Given the description of an element on the screen output the (x, y) to click on. 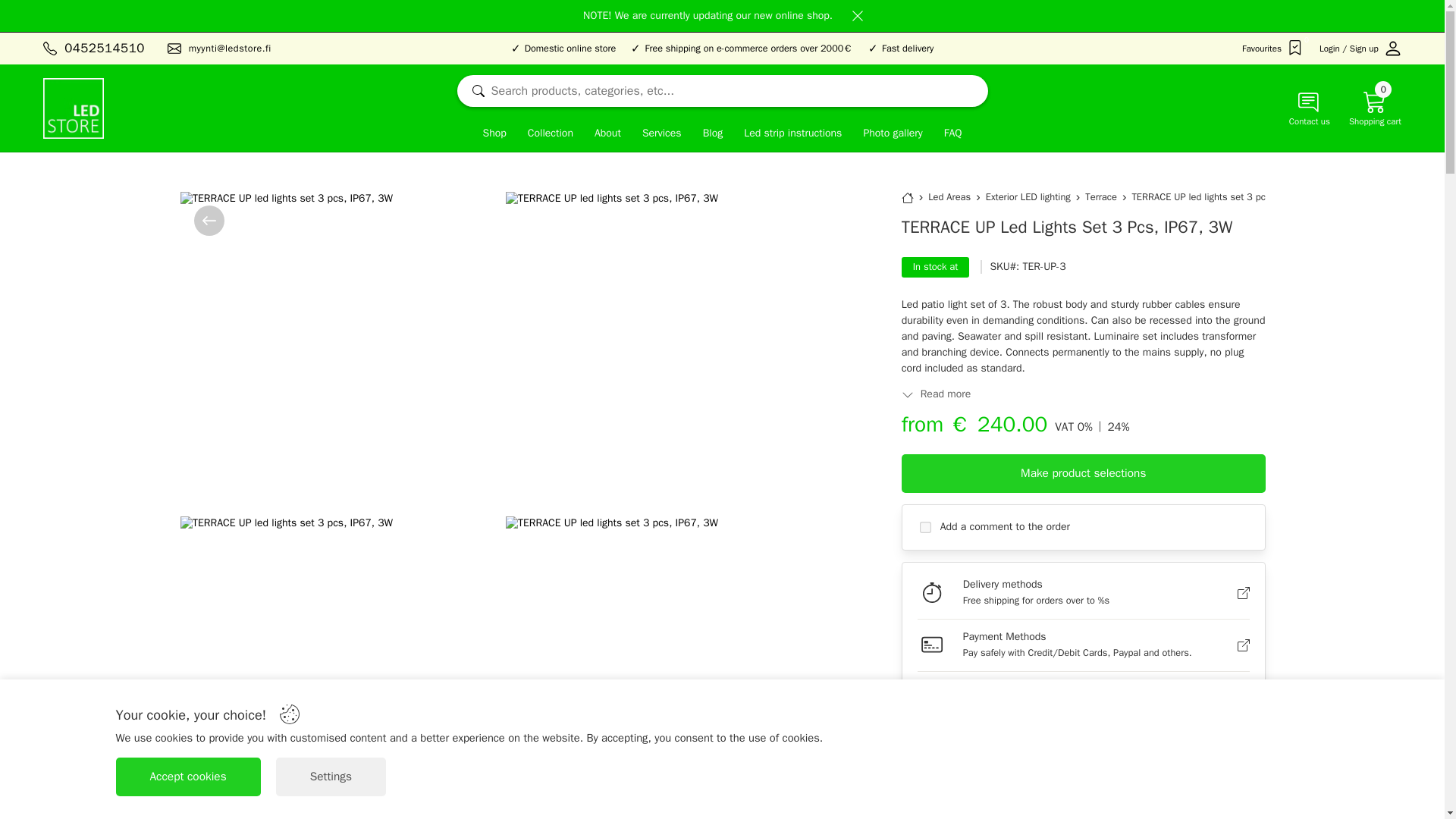
Shop (493, 134)
0452514510 (104, 48)
Shop (493, 134)
on (925, 526)
